Given the description of an element on the screen output the (x, y) to click on. 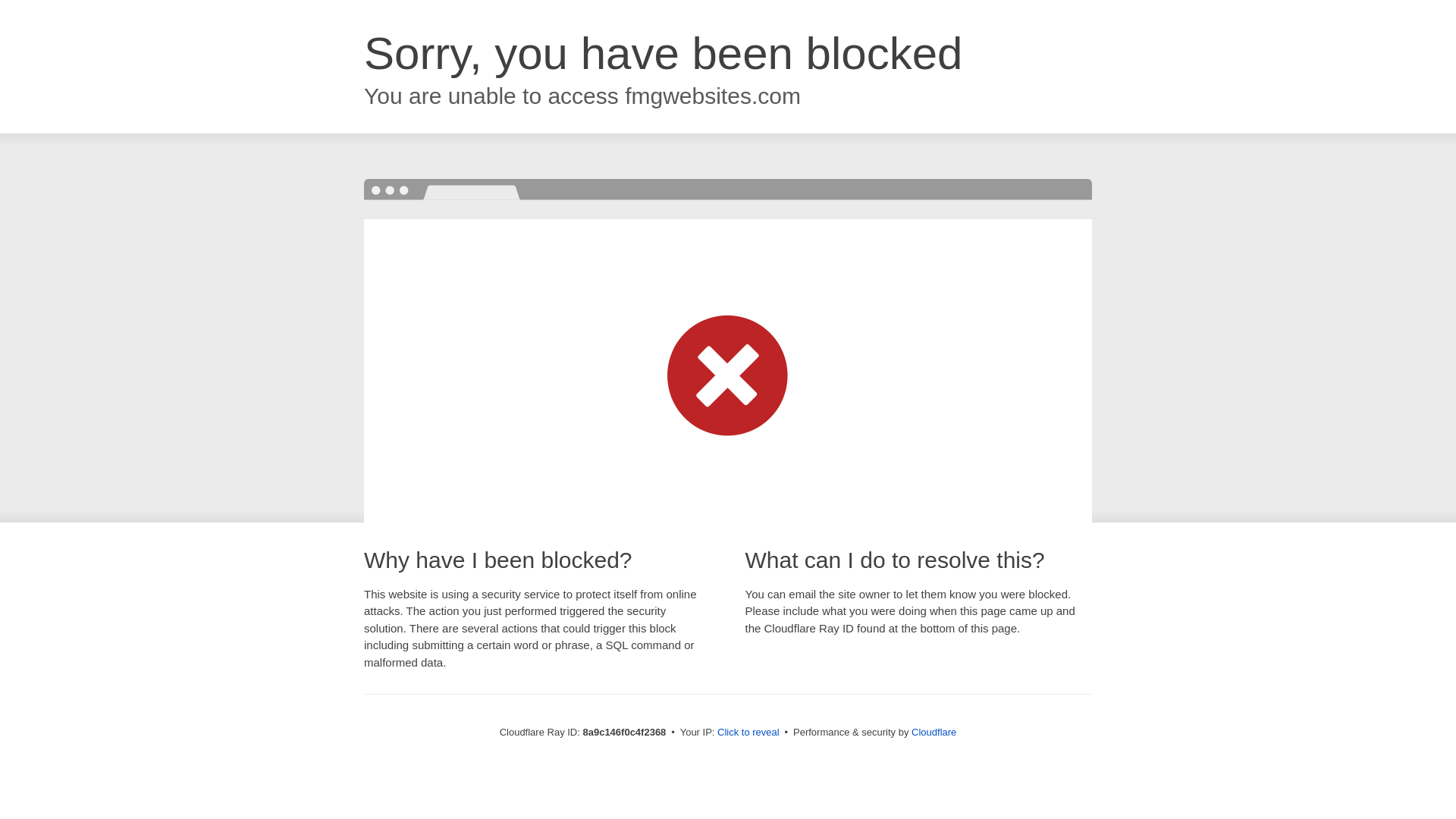
Cloudflare (933, 731)
Click to reveal (747, 732)
